Given the description of an element on the screen output the (x, y) to click on. 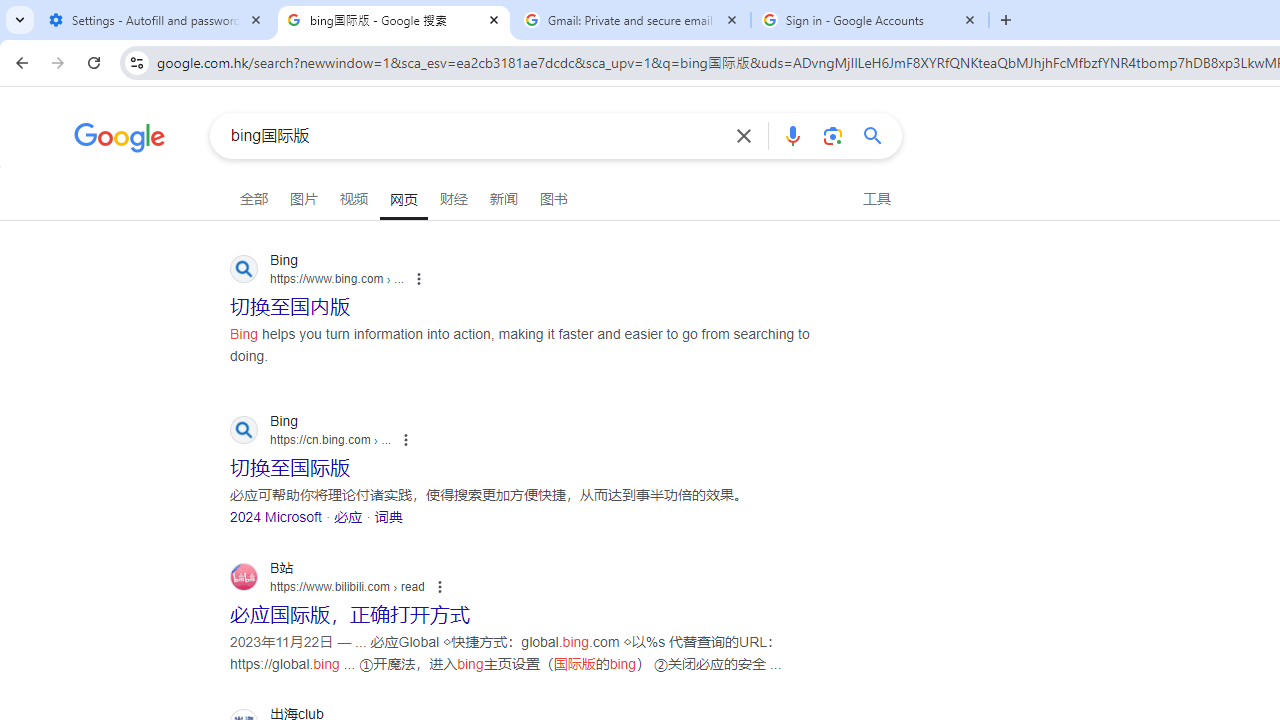
Settings - Autofill and passwords (156, 20)
Google (120, 139)
Sign in - Google Accounts (870, 20)
Close (970, 19)
System (10, 11)
Back (19, 62)
